Given the description of an element on the screen output the (x, y) to click on. 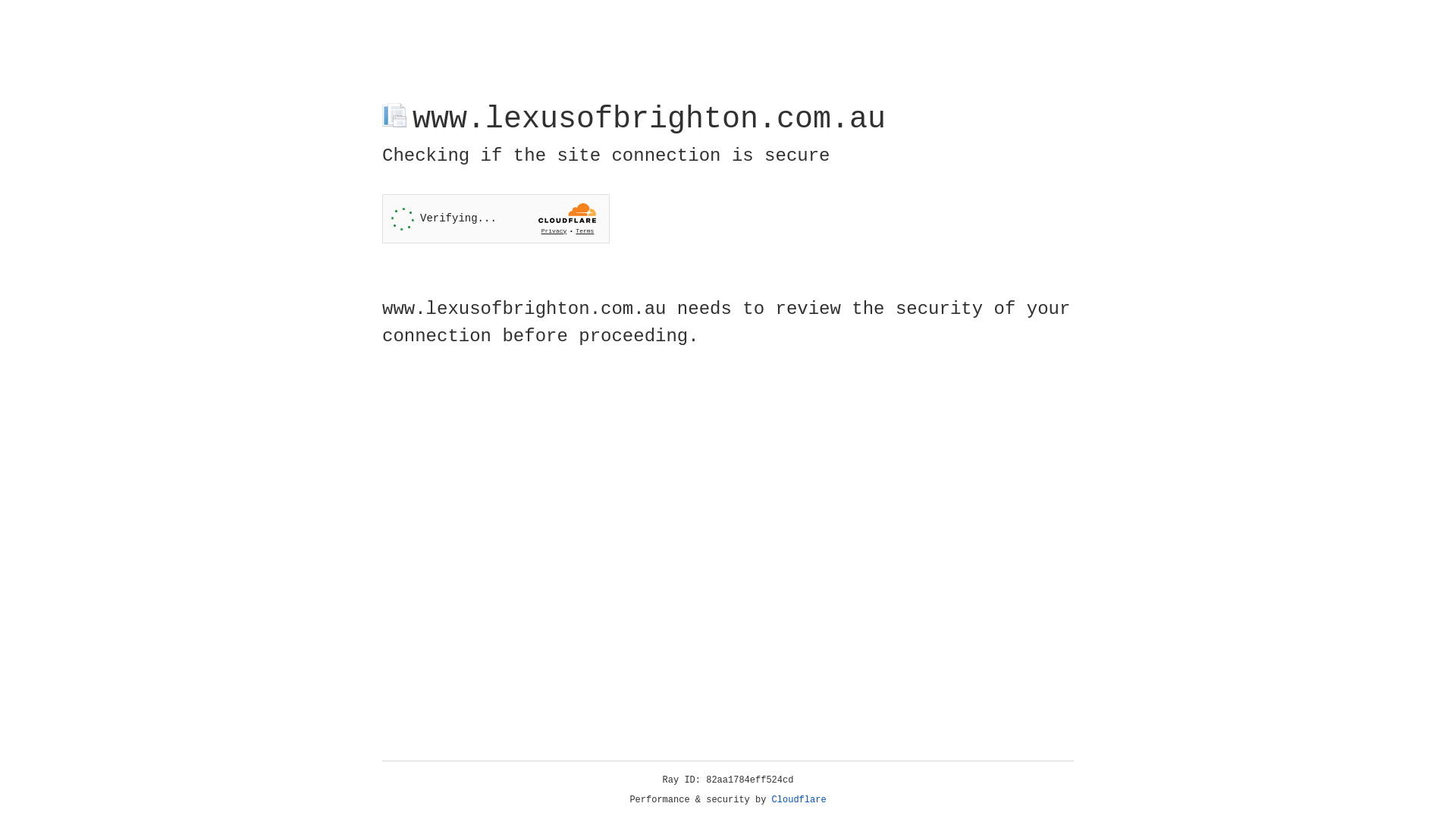
Widget containing a Cloudflare security challenge Element type: hover (495, 218)
Cloudflare Element type: text (798, 799)
